Given the description of an element on the screen output the (x, y) to click on. 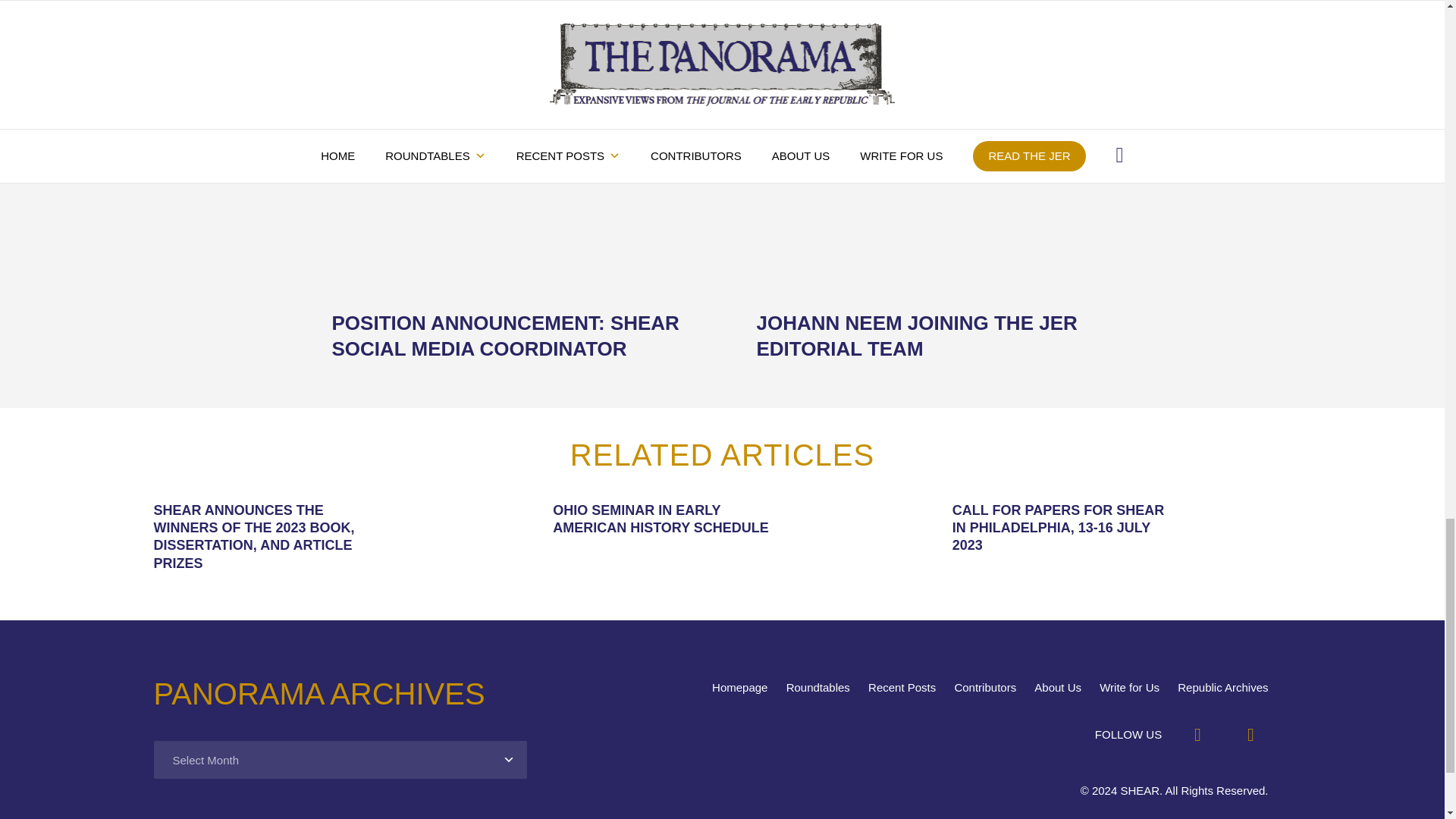
Twitter (1250, 734)
Facebook (1196, 734)
